Given the description of an element on the screen output the (x, y) to click on. 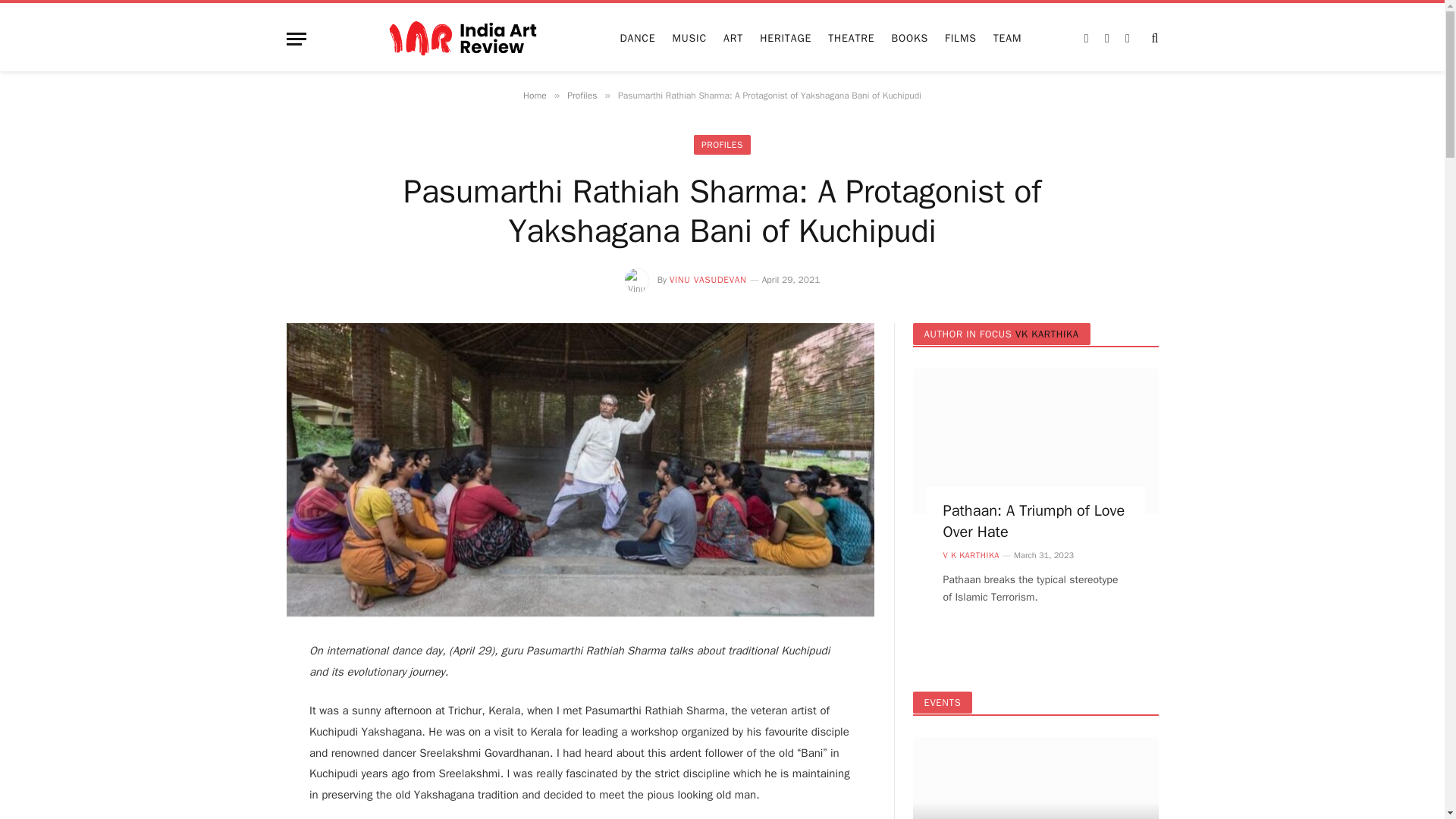
Home (534, 95)
India Art Review (462, 38)
Posts by Vinu Vasudevan (707, 279)
Profiles (581, 95)
PROFILES (722, 144)
HERITAGE (785, 38)
VINU VASUDEVAN (707, 279)
